Given the description of an element on the screen output the (x, y) to click on. 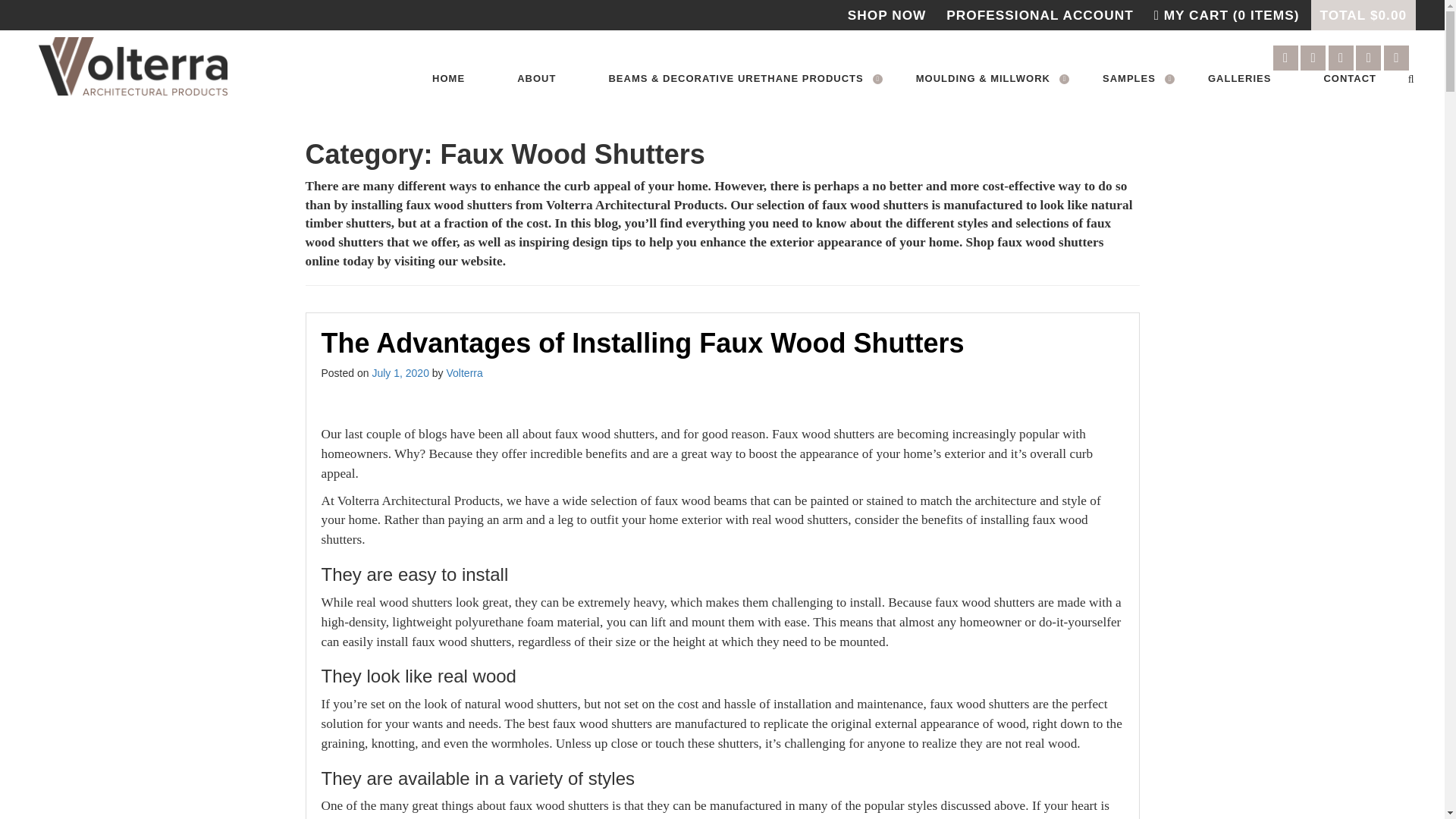
ABOUT (537, 78)
HOME (449, 78)
PROFESSIONAL ACCOUNT (1039, 15)
SHOP NOW (886, 15)
